Given the description of an element on the screen output the (x, y) to click on. 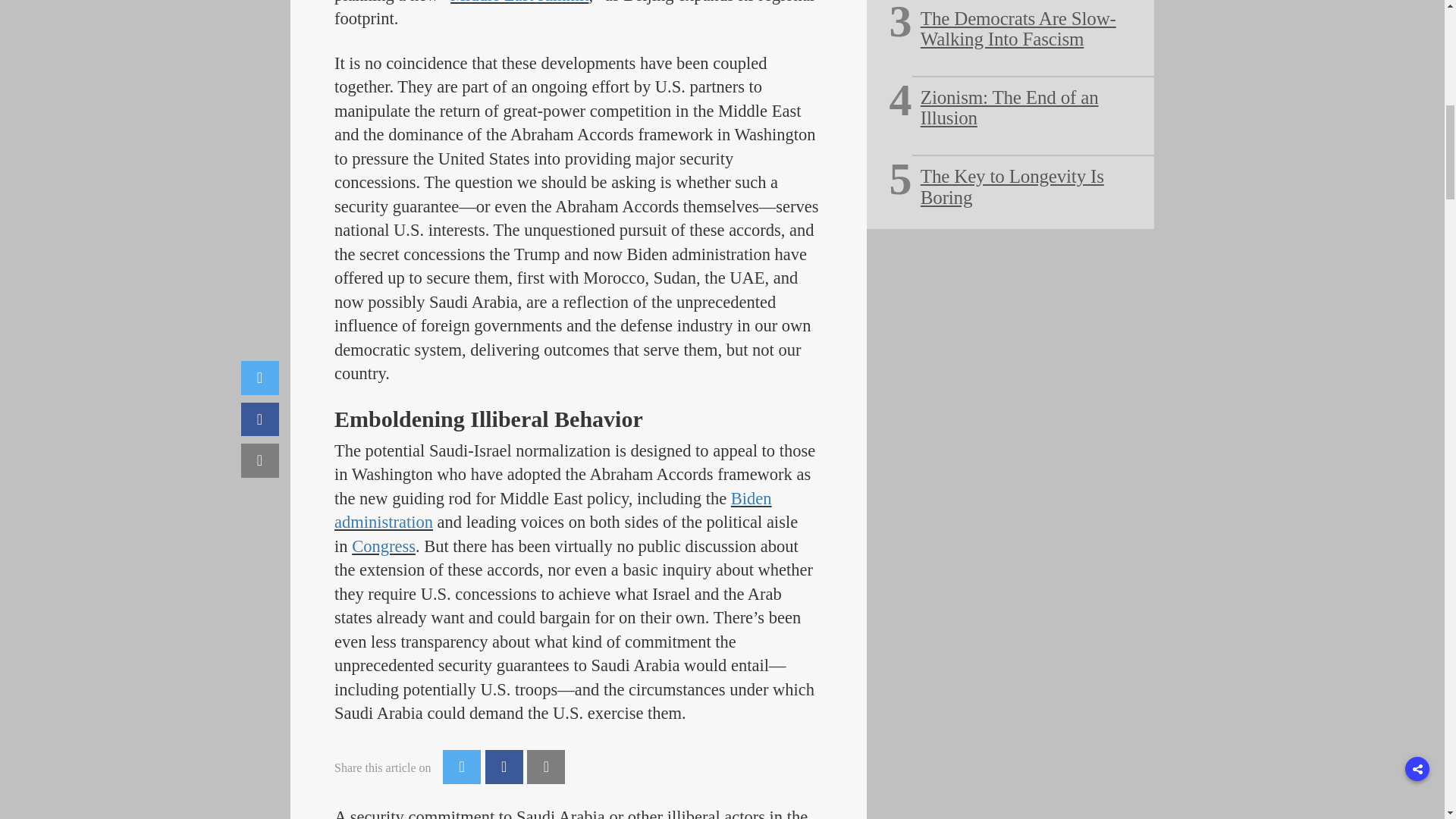
Facebook (503, 766)
Congress (383, 546)
Middle East summit (519, 2)
Mail (545, 766)
Facebook (503, 766)
Twitter (461, 766)
Twitter (461, 766)
Mail (545, 766)
Biden administration (552, 510)
